Given the description of an element on the screen output the (x, y) to click on. 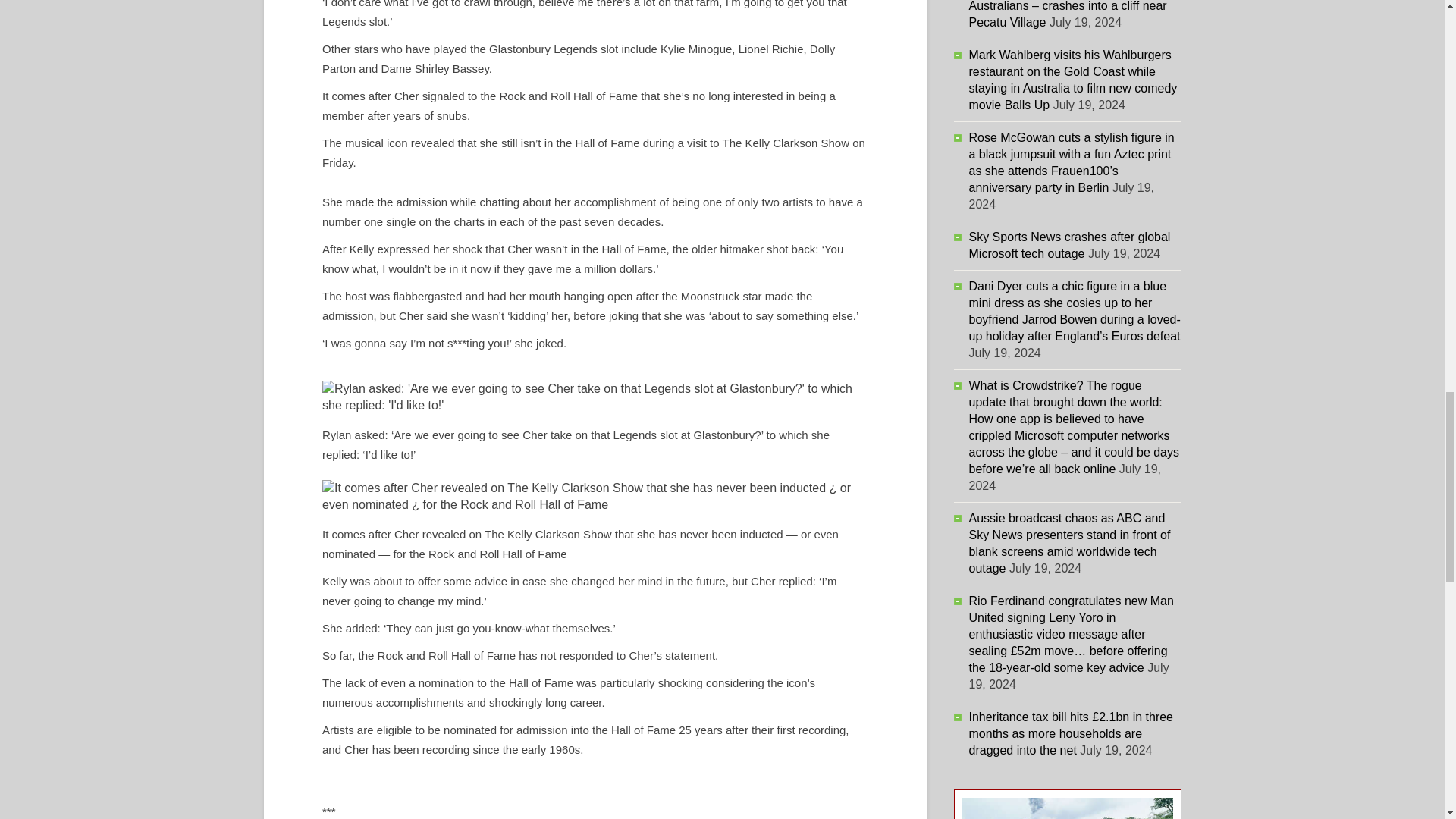
Sky Sports News crashes after global Microsoft tech outage (1069, 245)
